Given the description of an element on the screen output the (x, y) to click on. 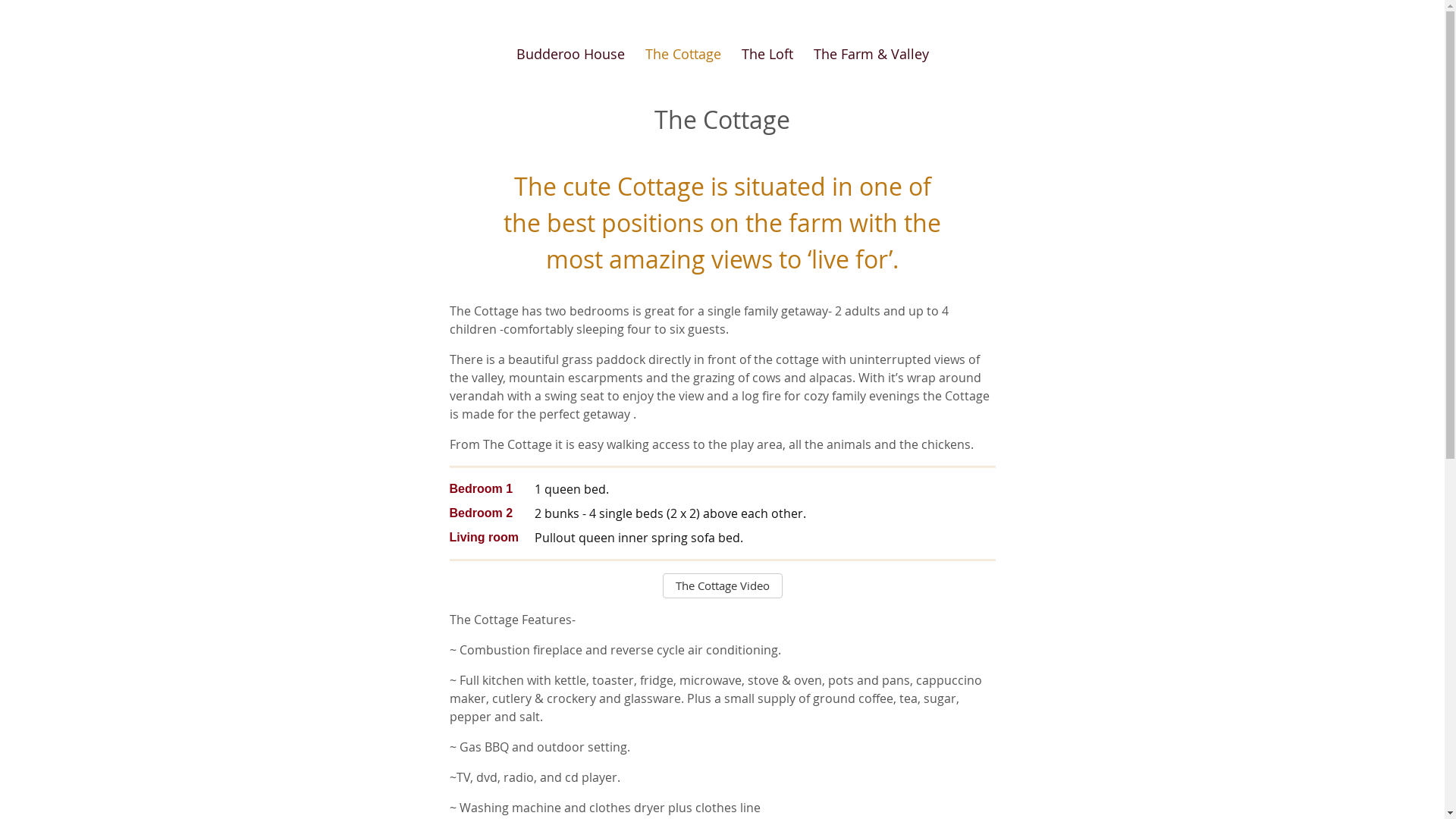
The Farm & Valley Element type: text (870, 54)
The Loft Element type: text (766, 54)
Budderoo House Element type: text (569, 54)
The Cottage Video Element type: text (722, 585)
The Cottage Element type: text (682, 54)
